Given the description of an element on the screen output the (x, y) to click on. 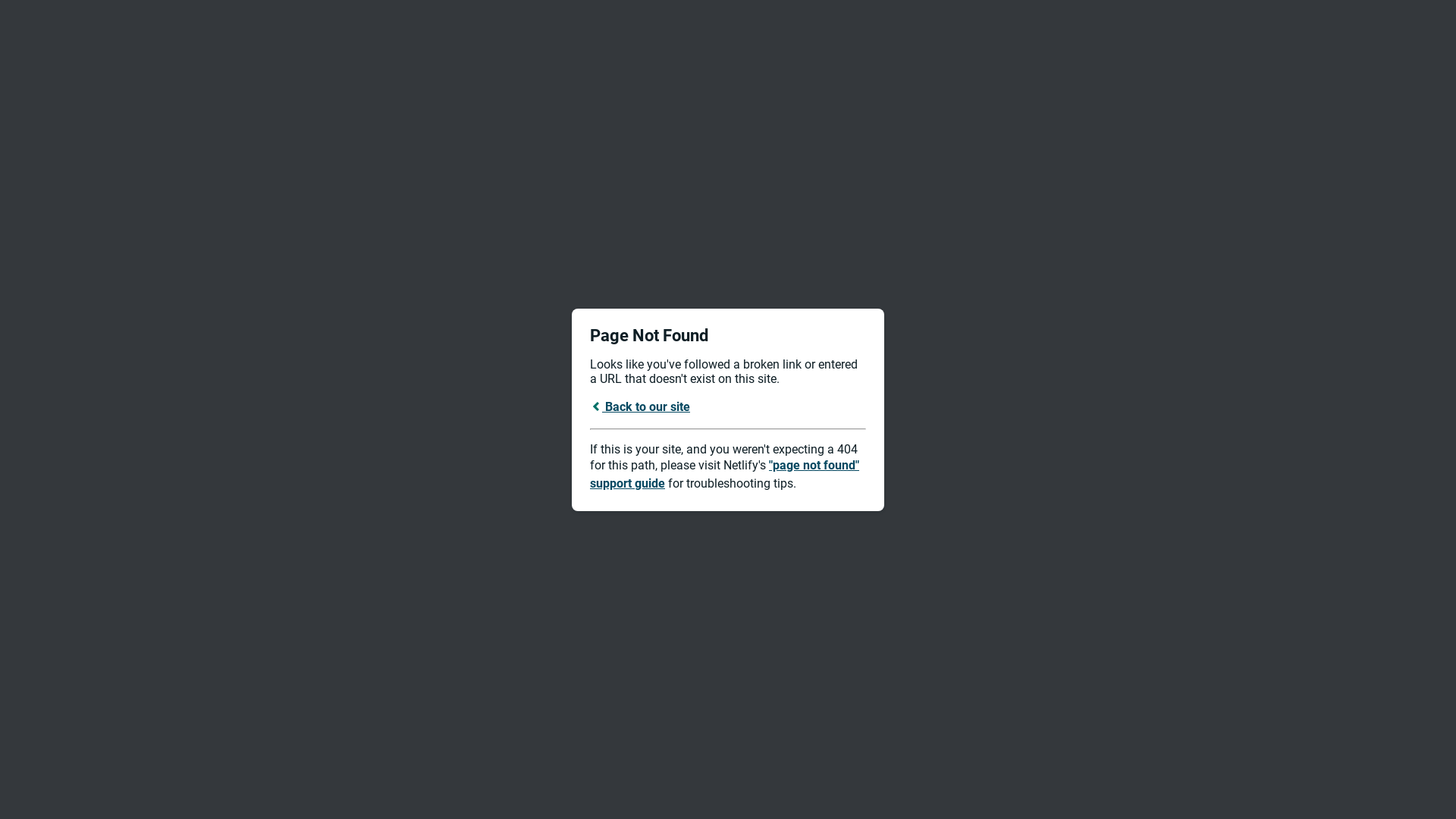
Back to our site Element type: text (639, 405)
"page not found" support guide Element type: text (724, 474)
